Given the description of an element on the screen output the (x, y) to click on. 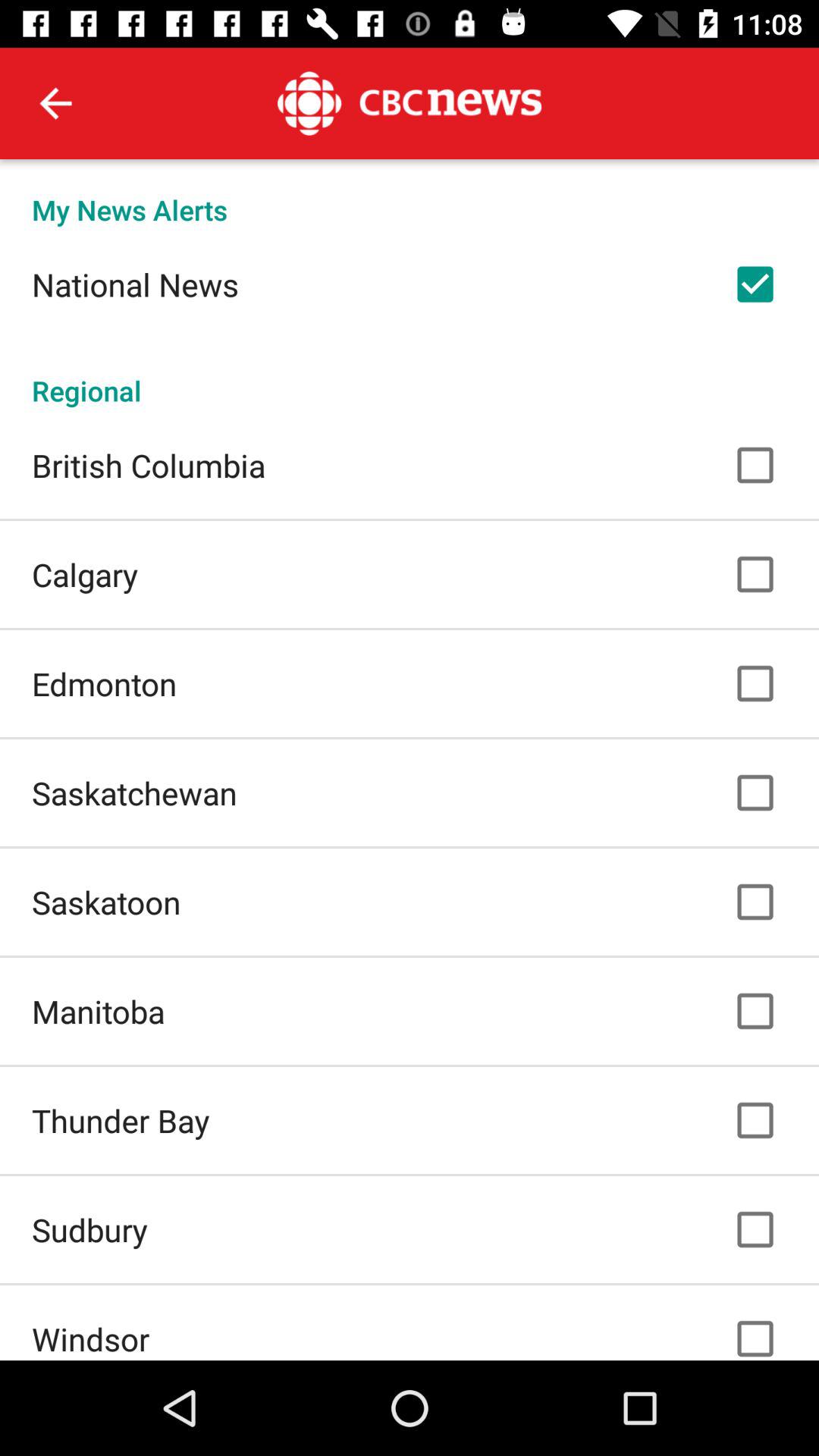
flip to national news icon (134, 283)
